Given the description of an element on the screen output the (x, y) to click on. 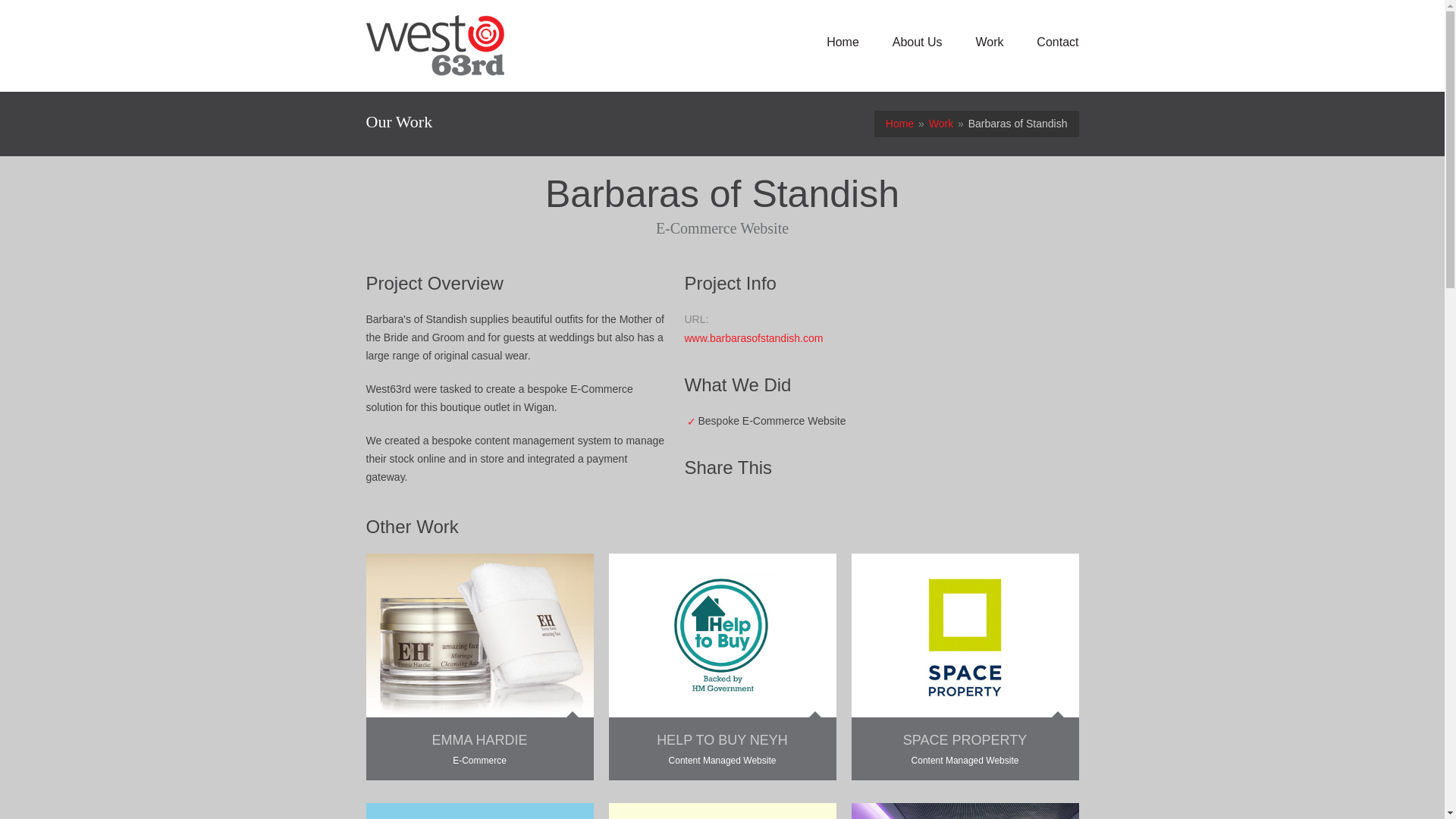
About Us (917, 42)
Work (989, 42)
Work (940, 123)
EMMA HARDIE (478, 739)
www.barbarasofstandish.com (753, 337)
Contact (1057, 42)
SPACE PROPERTY (964, 739)
HELP TO BUY NEYH (721, 739)
Home (843, 42)
Home (899, 123)
